Given the description of an element on the screen output the (x, y) to click on. 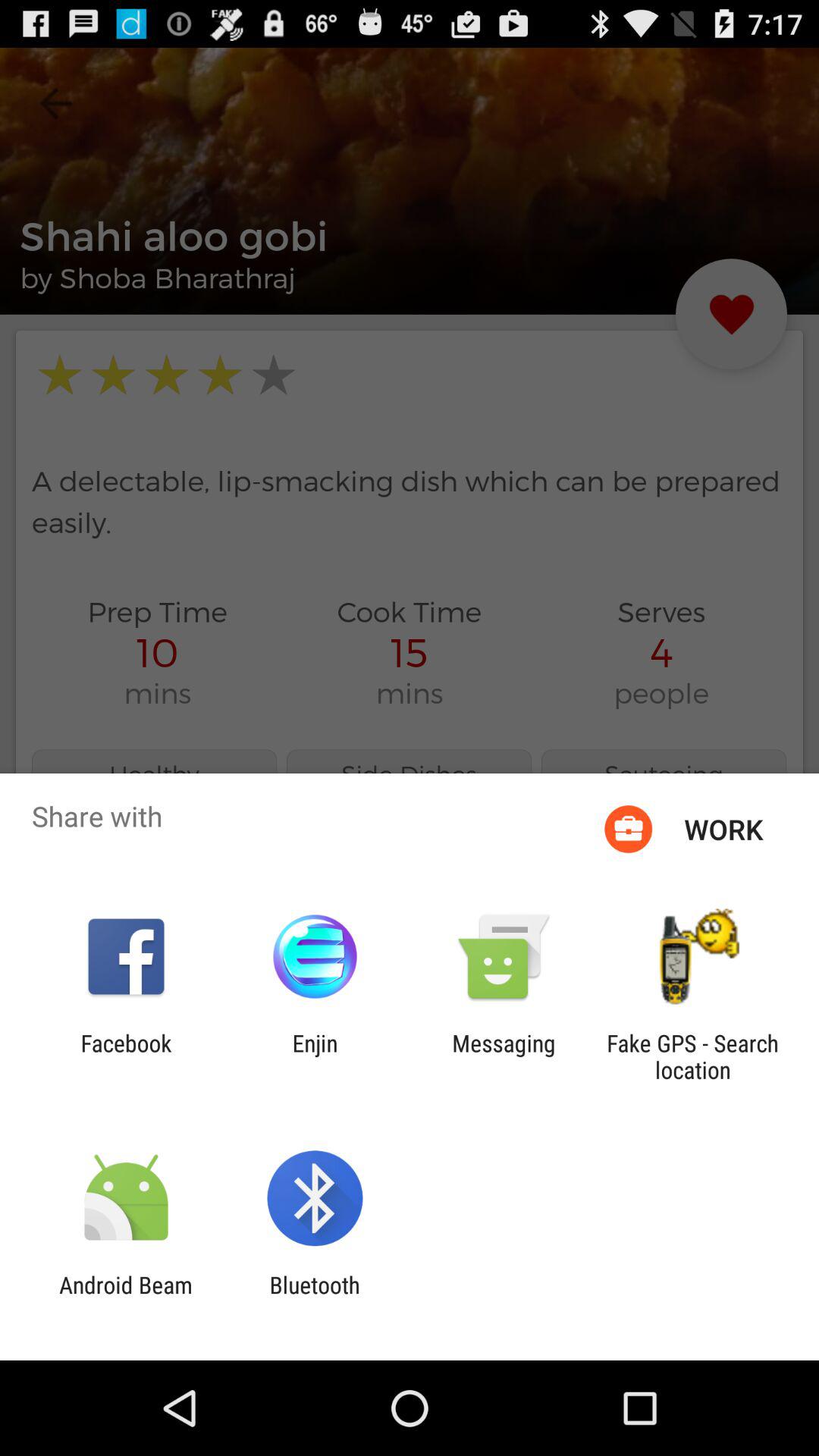
open the fake gps search item (692, 1056)
